Given the description of an element on the screen output the (x, y) to click on. 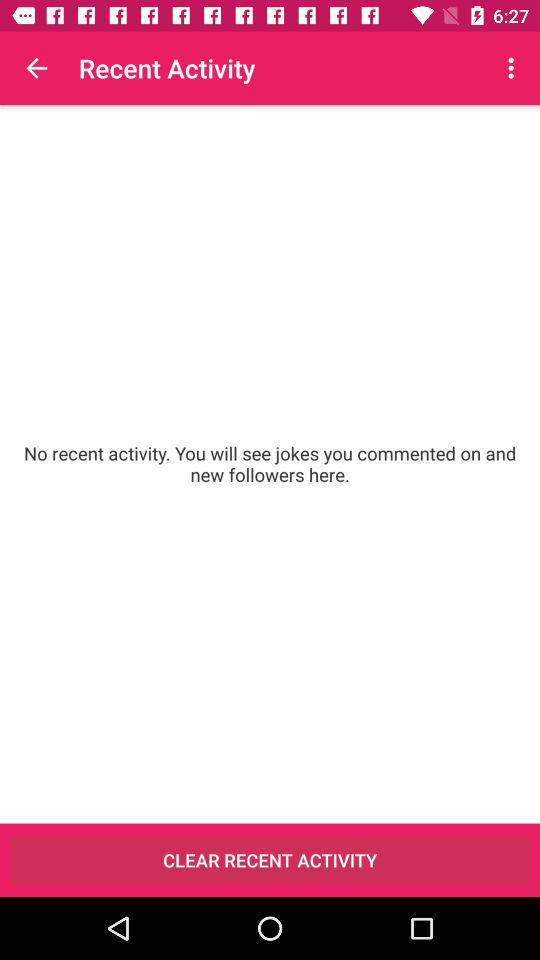
open icon above the clear recent activity item (270, 464)
